Given the description of an element on the screen output the (x, y) to click on. 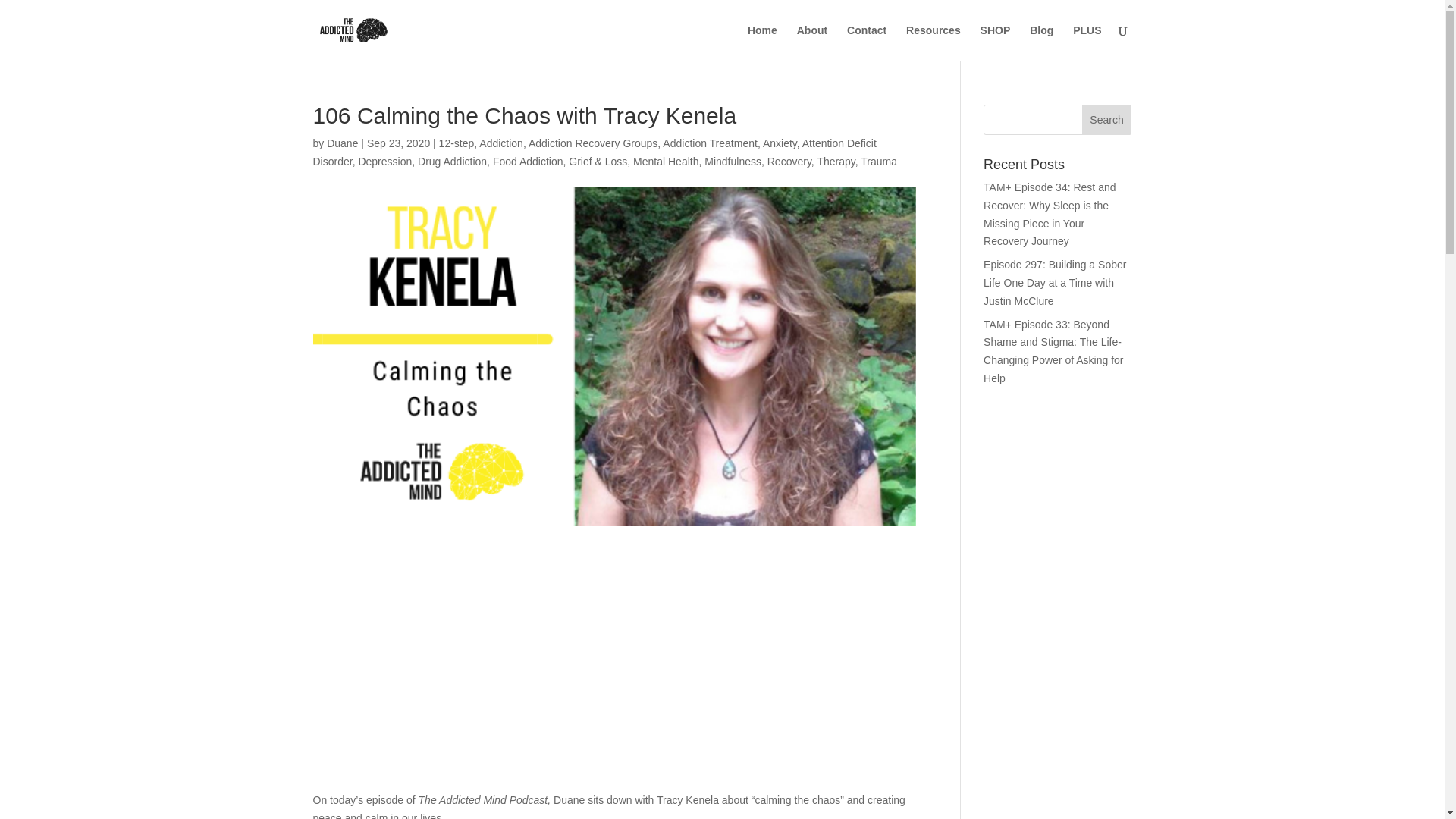
Recovery (788, 161)
Addiction Recovery Groups (593, 143)
Attention Deficit Disorder (594, 152)
Drug Addiction (451, 161)
Therapy (835, 161)
Trauma (878, 161)
Contact (866, 42)
Mindfulness (732, 161)
Mental Health (665, 161)
12-step (456, 143)
